Given the description of an element on the screen output the (x, y) to click on. 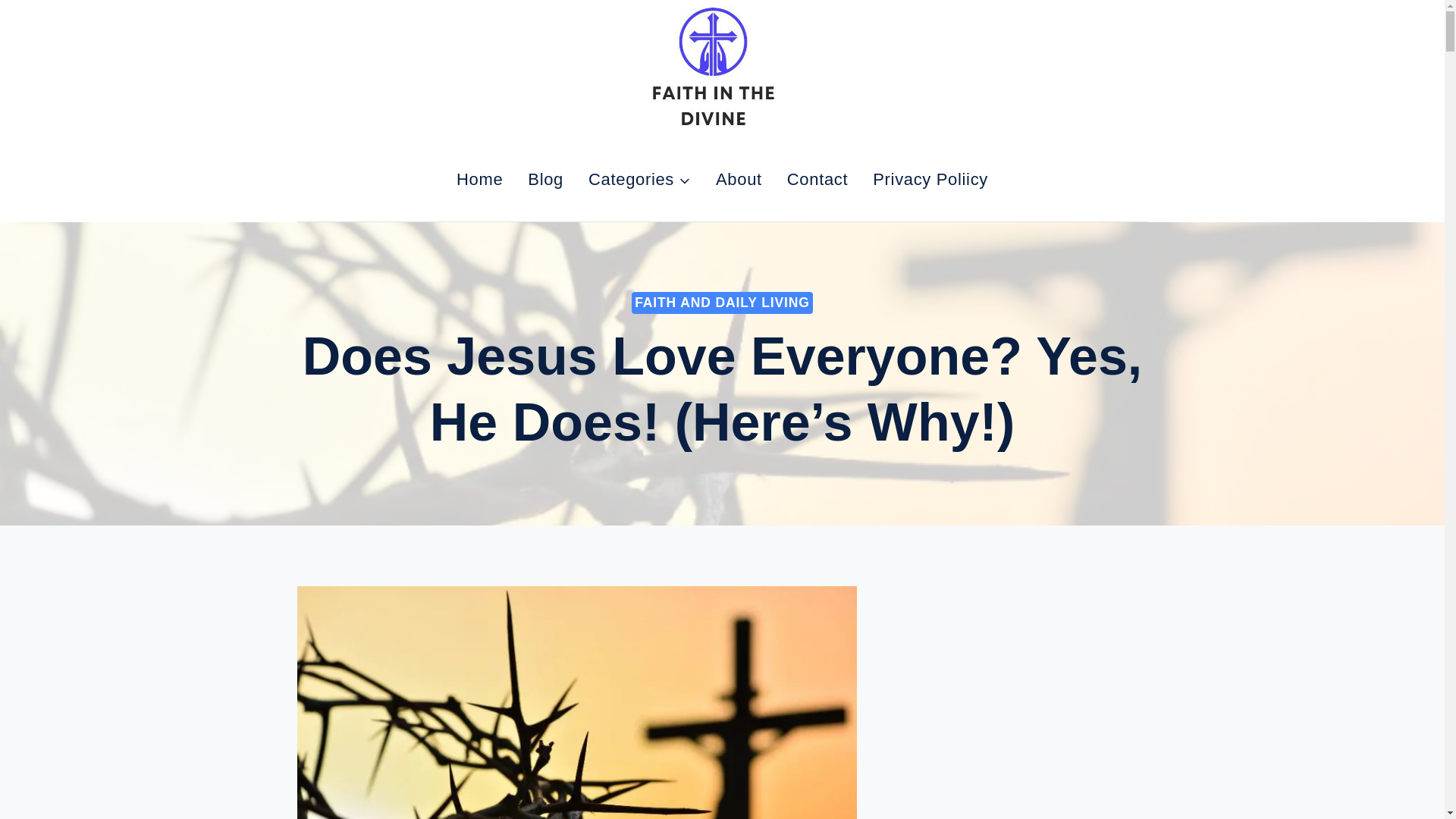
Contact (817, 179)
Home (479, 179)
FAITH AND DAILY LIVING (721, 302)
About (738, 179)
Blog (545, 179)
Privacy Poliicy (930, 179)
Categories (639, 179)
